Given the description of an element on the screen output the (x, y) to click on. 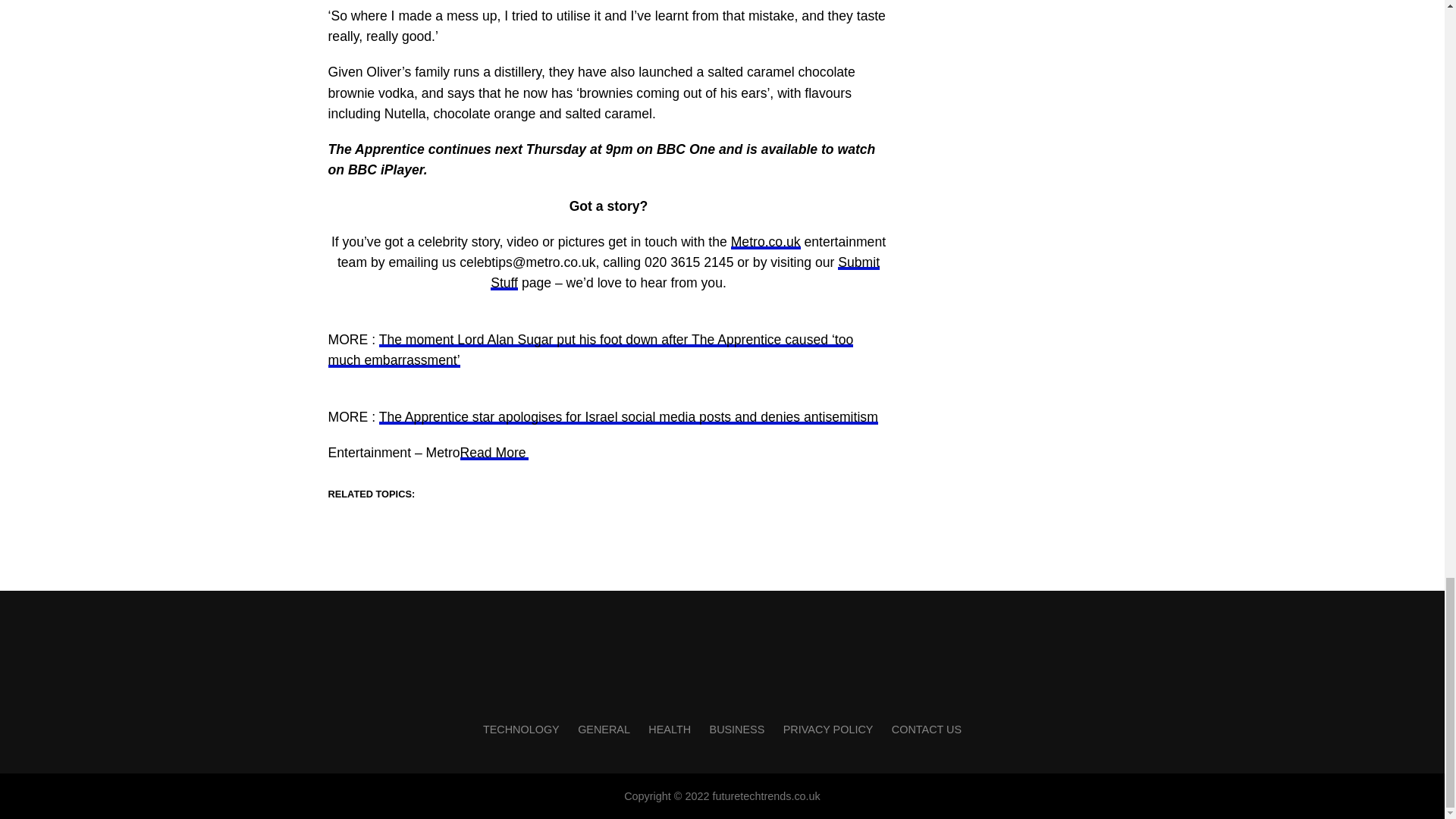
Submit Stuff (684, 272)
PRIVACY POLICY (828, 729)
HEALTH (668, 729)
Read More (494, 452)
GENERAL (604, 729)
TECHNOLOGY (521, 729)
BUSINESS (737, 729)
Metro.co.uk (765, 241)
CONTACT US (925, 729)
